Given the description of an element on the screen output the (x, y) to click on. 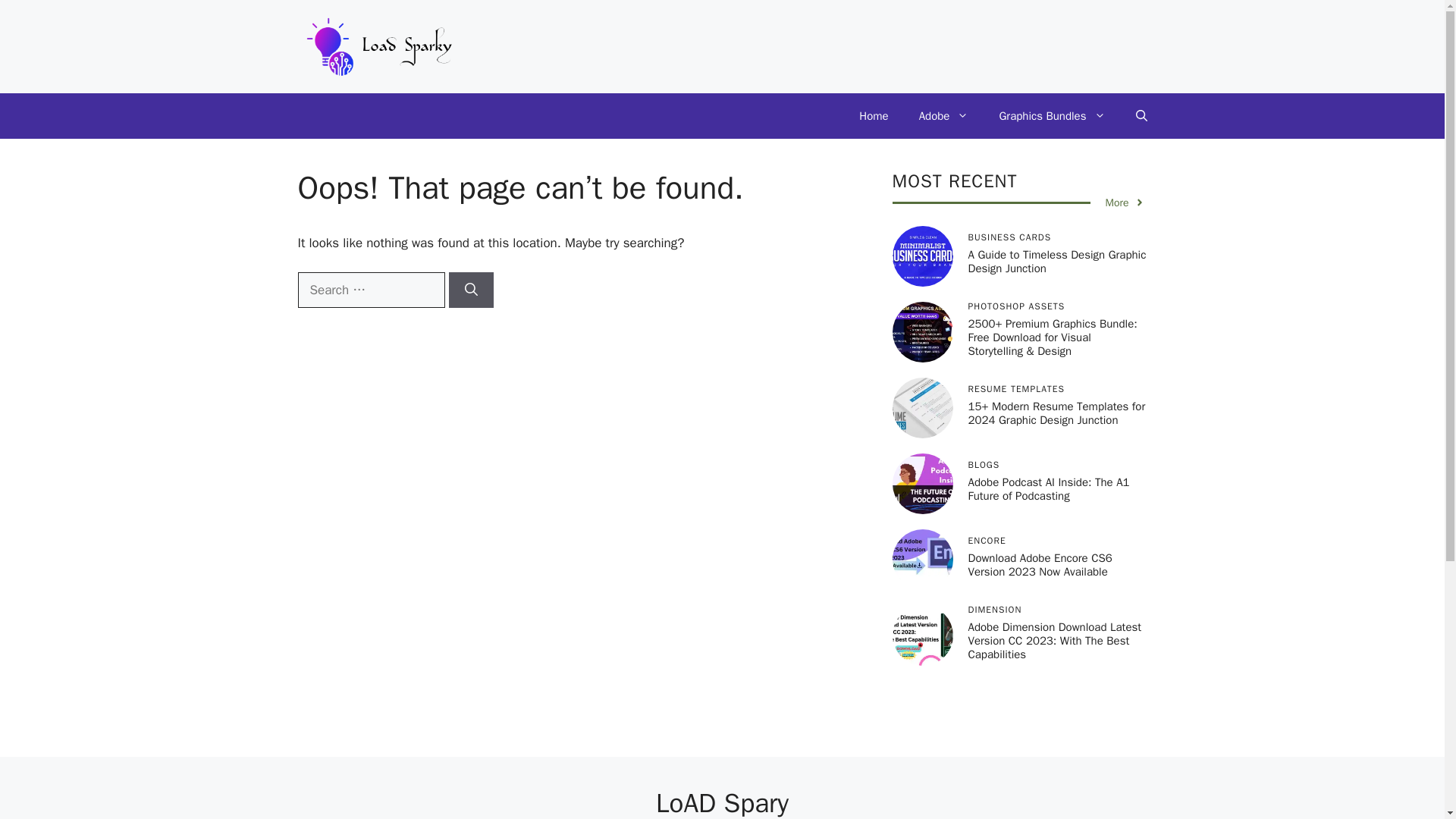
A Guide to Timeless Design Graphic Design Junction (1056, 261)
More (1124, 202)
Download Adobe Encore CS6 Version 2023 Now Available (1040, 564)
Graphics Bundles (1051, 115)
Home (873, 115)
Adobe Podcast AI Inside: The A1 Future of Podcasting (1048, 488)
Adobe (944, 115)
Search for: (370, 289)
